Given the description of an element on the screen output the (x, y) to click on. 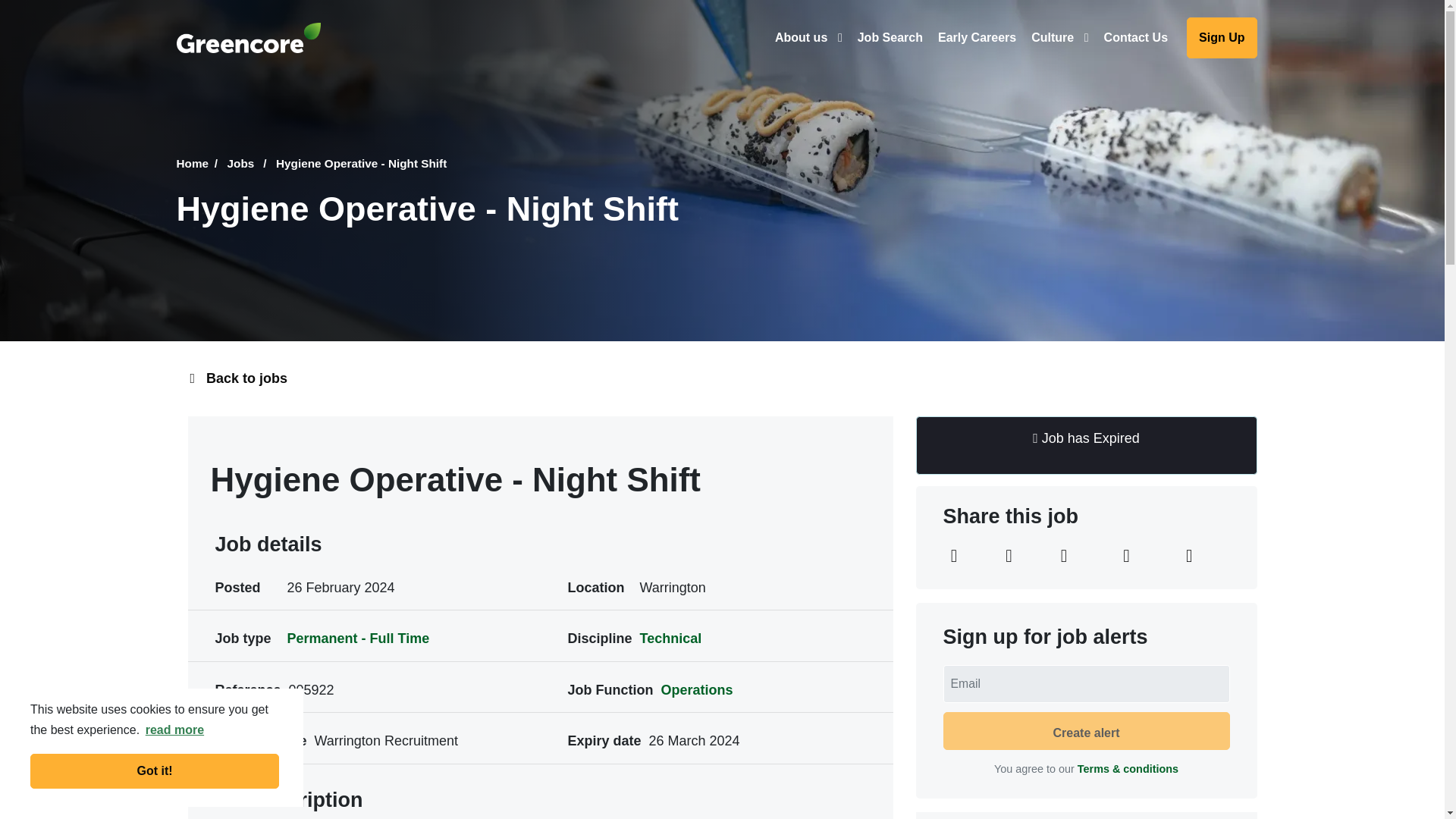
Got it! (154, 770)
Early Careers (976, 37)
Hygiene Operative - Night Shift (361, 164)
About us (808, 37)
Contact Us (1135, 37)
Back to jobs (721, 378)
Jobs (249, 164)
Technical (670, 638)
Operations (696, 690)
Permanent - Full Time (357, 638)
